Given the description of an element on the screen output the (x, y) to click on. 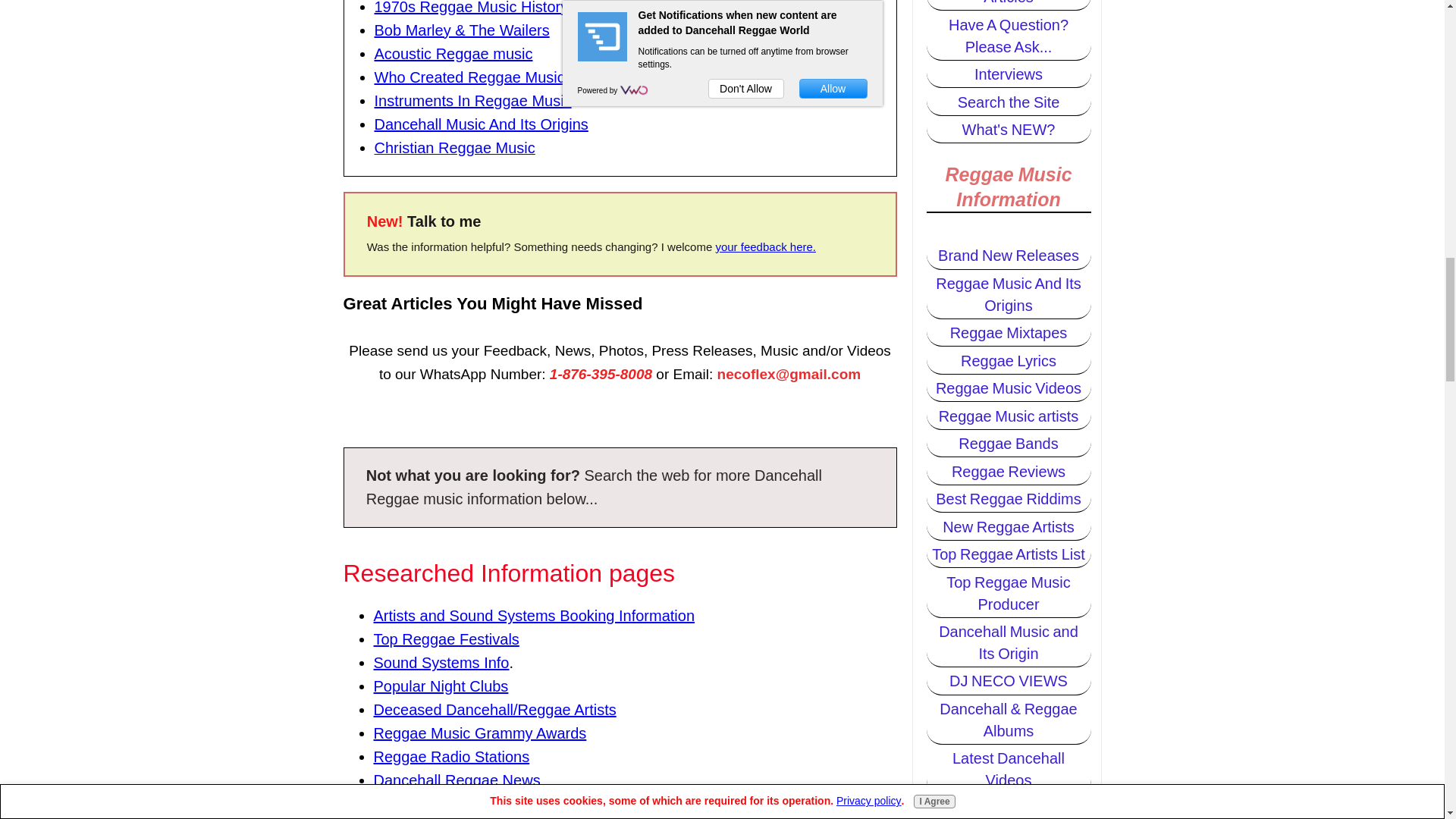
Artists and Sound Systems Booking Information (533, 615)
Reggae Music Grammy Awards (479, 733)
Dancehall Reggae News (456, 780)
Articles (1008, 5)
your feedback here. (764, 246)
Reggae Radio Stations (450, 756)
Instruments In Reggae Music (473, 100)
Popular Night Clubs (440, 686)
Top Reggae Festivals (445, 638)
Christian Reggae Music (454, 148)
Sound Systems Info (440, 662)
Dancehall Music And Its Origins (481, 124)
Acoustic Reggae music (453, 53)
1970s Reggae Music History (471, 7)
Who Created Reggae Music? (473, 76)
